Given the description of an element on the screen output the (x, y) to click on. 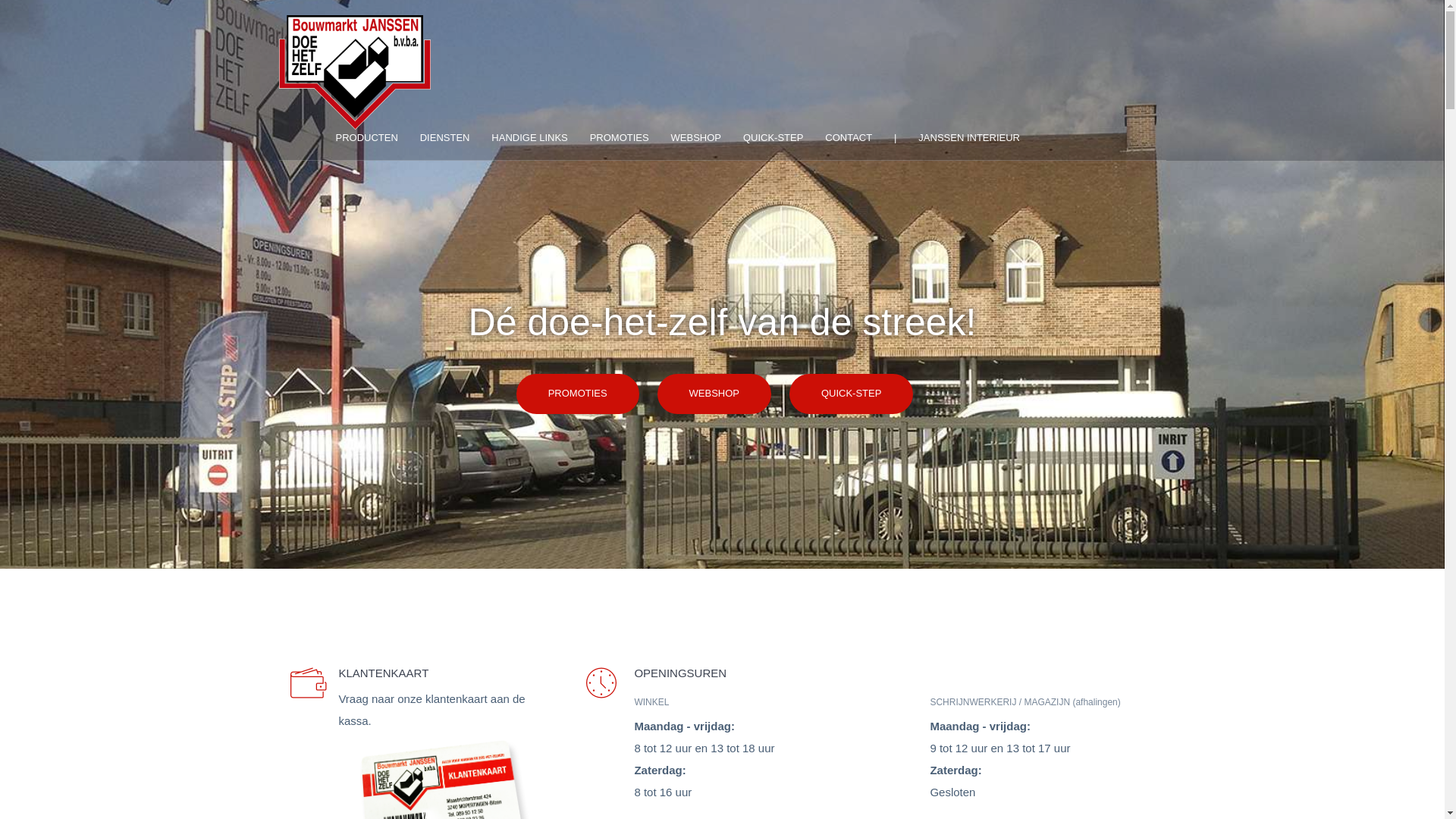
PROMOTIES Element type: text (577, 393)
QUICK-STEP Element type: text (851, 393)
JANSSEN INTERIEUR Element type: text (968, 137)
WEBSHOP Element type: text (705, 137)
CONTACT Element type: text (858, 137)
HANDIGE LINKS Element type: text (538, 137)
DIENSTEN Element type: text (454, 137)
PROMOTIES Element type: text (628, 137)
| Element type: text (904, 137)
WEBSHOP Element type: text (714, 393)
PRODUCTEN Element type: text (375, 137)
QUICK-STEP Element type: text (782, 137)
